Given the description of an element on the screen output the (x, y) to click on. 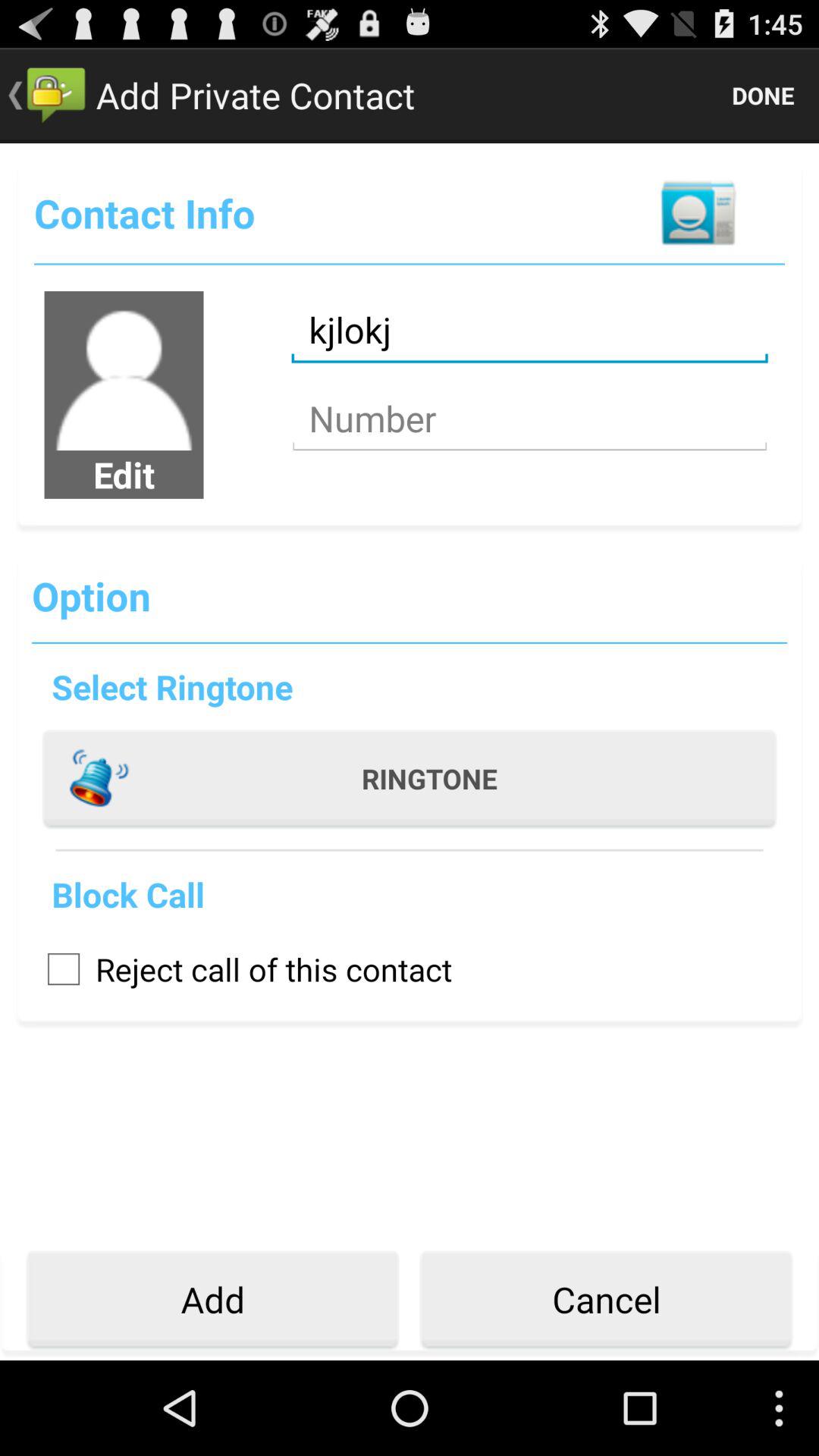
choose icon below the block call app (241, 969)
